Given the description of an element on the screen output the (x, y) to click on. 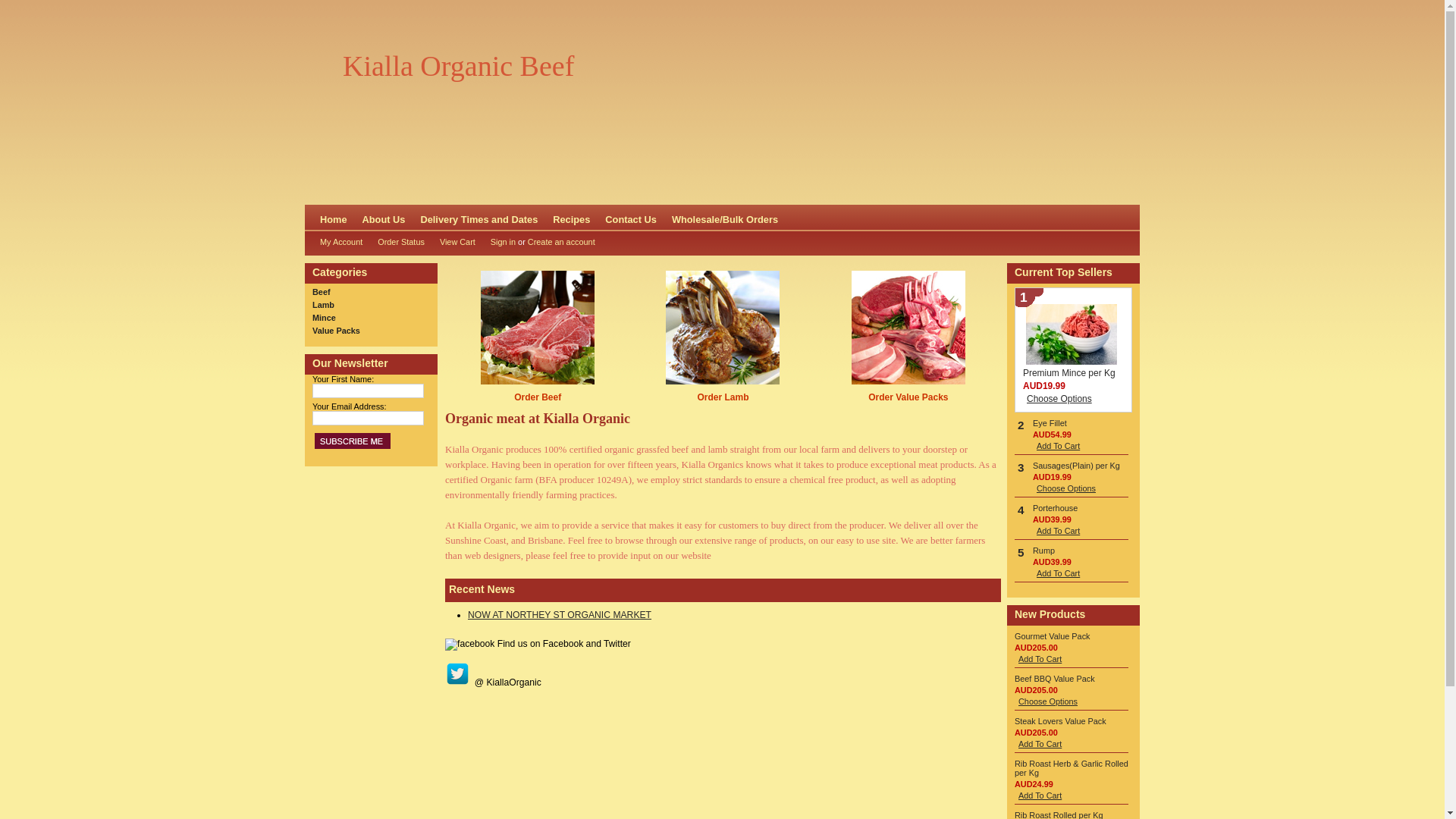
Sausages(Plain) per Kg Element type: text (1076, 465)
Steak Lovers Value Pack Element type: text (1060, 720)
Add To Cart Element type: text (1057, 445)
Beef BBQ Value Pack Element type: text (1054, 678)
Eye Fillet Element type: text (1049, 422)
Premium Mince per Kg Element type: text (1068, 372)
Kialla Organic Beef Element type: text (458, 65)
Contact Us Element type: text (630, 218)
Rib Roast Herb & Garlic Rolled per Kg Element type: text (1071, 768)
View Cart Element type: text (453, 241)
Add To Cart Element type: text (1039, 658)
Order Lamb Element type: text (722, 397)
Wholesale/Bulk Orders Element type: text (724, 218)
Choose Options Element type: text (1059, 398)
Add To Cart Element type: text (1039, 743)
Delivery Times and Dates Element type: text (478, 218)
Order Status Element type: text (397, 241)
Add To Cart Element type: text (1057, 572)
Add To Cart Element type: text (1057, 530)
NOW AT NORTHEY ST ORGANIC MARKET Element type: text (559, 614)
Value Packs Element type: text (336, 330)
Mince Element type: text (323, 317)
Recipes Element type: text (571, 218)
About Us Element type: text (383, 218)
Home Element type: text (333, 218)
My Account Element type: text (337, 241)
Choose Options Element type: text (1047, 701)
Choose Options Element type: text (1065, 487)
Order Value Packs Element type: text (907, 397)
Porterhouse Element type: text (1054, 507)
Lamb Element type: text (323, 304)
Create an account Element type: text (561, 241)
Gourmet Value Pack Element type: text (1052, 635)
Beef Element type: text (321, 291)
Order Beef Element type: text (537, 397)
Sign in Element type: text (502, 241)
Add To Cart Element type: text (1039, 795)
Rump Element type: text (1043, 550)
